Given the description of an element on the screen output the (x, y) to click on. 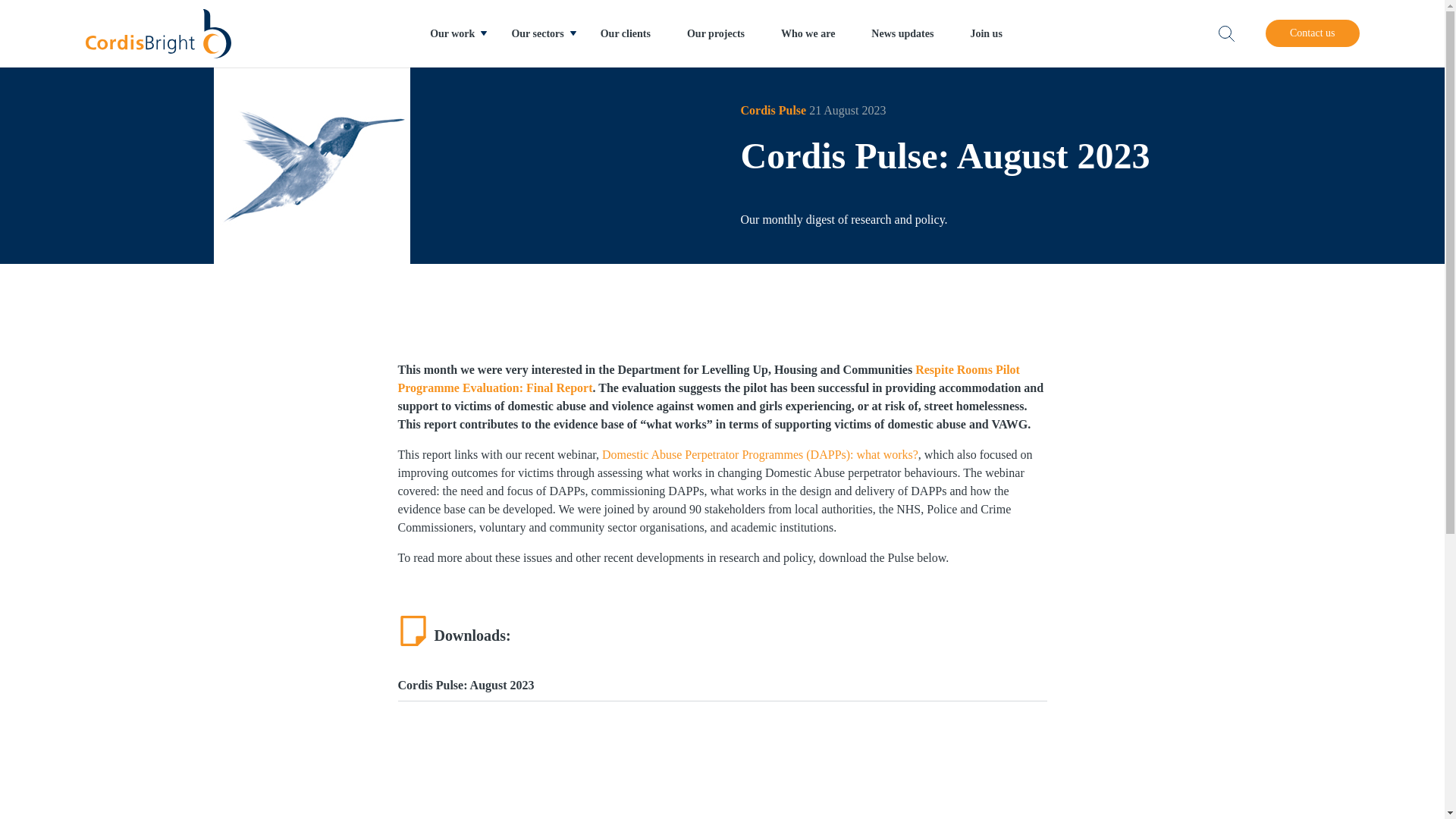
News updates (902, 33)
Join us (986, 33)
Our projects (715, 33)
Contact us (1312, 32)
Who we are (807, 33)
Respite Rooms Pilot Programme Evaluation: Final Report (708, 378)
Cordis Pulse: August 2023 (721, 685)
Our clients (625, 33)
Cordis Pulse (774, 110)
